Given the description of an element on the screen output the (x, y) to click on. 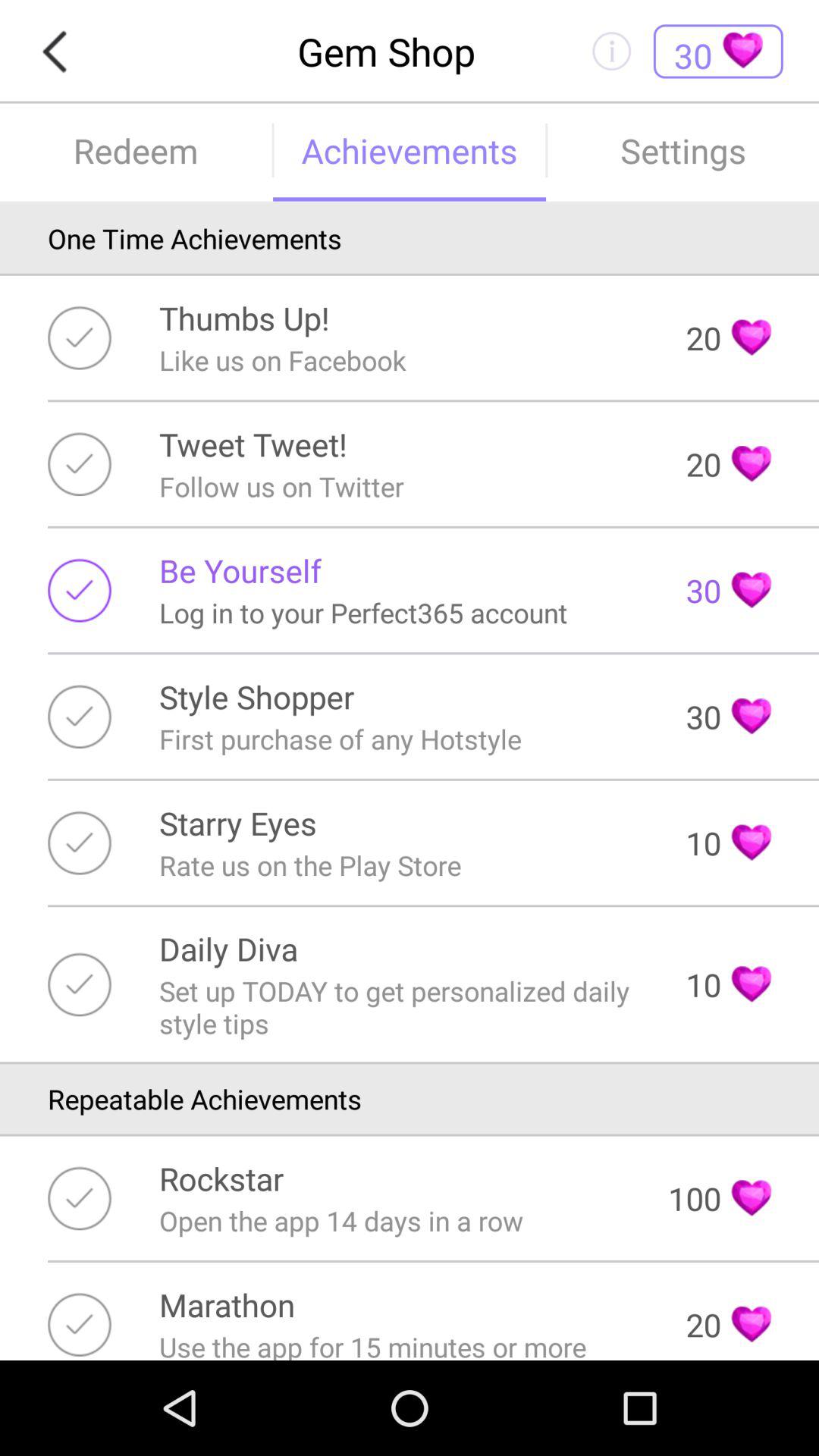
scroll until rockstar (221, 1178)
